Given the description of an element on the screen output the (x, y) to click on. 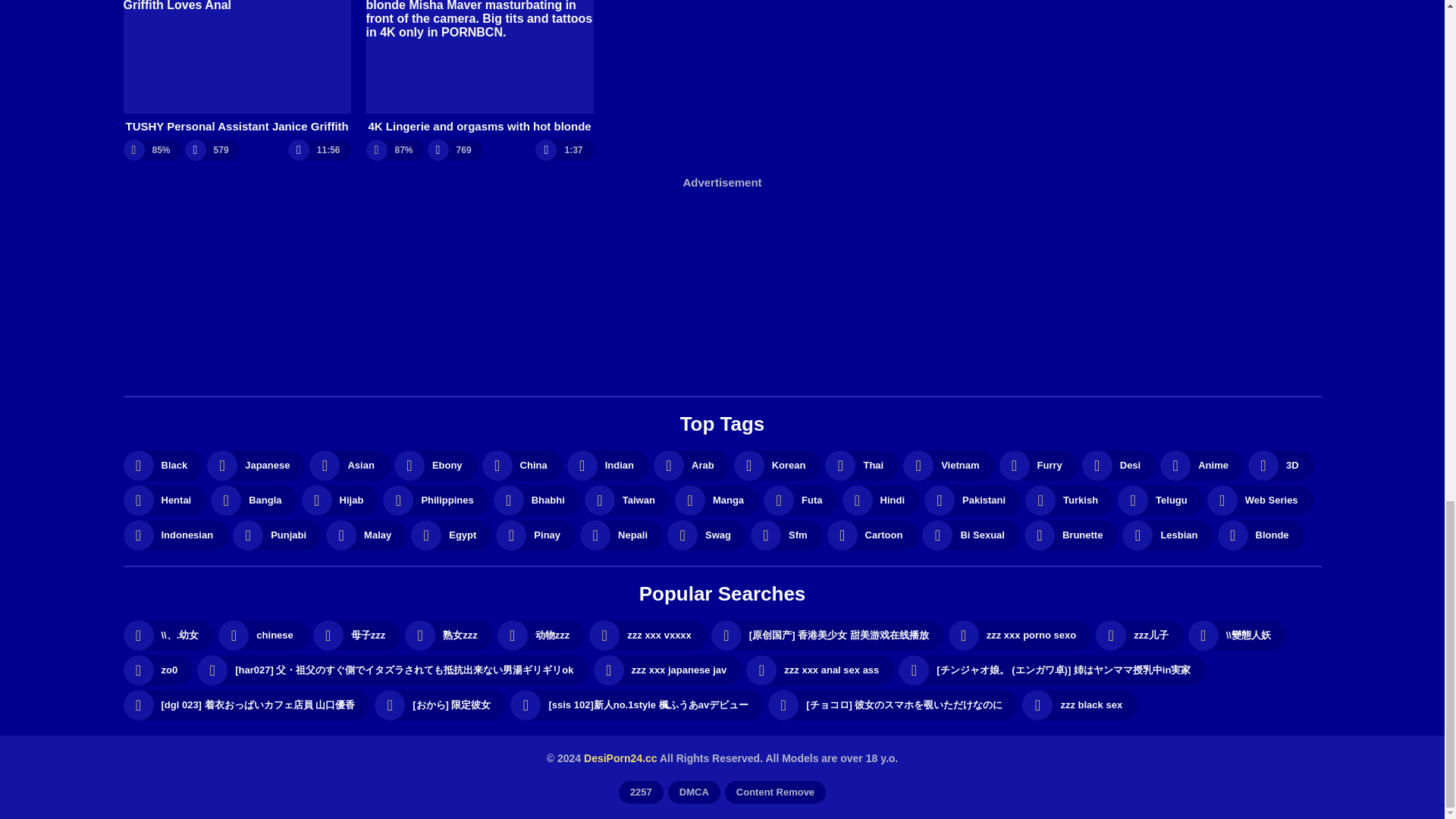
Arab (691, 465)
China (521, 465)
3D (1280, 465)
Japanese (255, 465)
Bangla (254, 500)
Hentai (164, 500)
Desi (1118, 465)
Vietnam (948, 465)
